Given the description of an element on the screen output the (x, y) to click on. 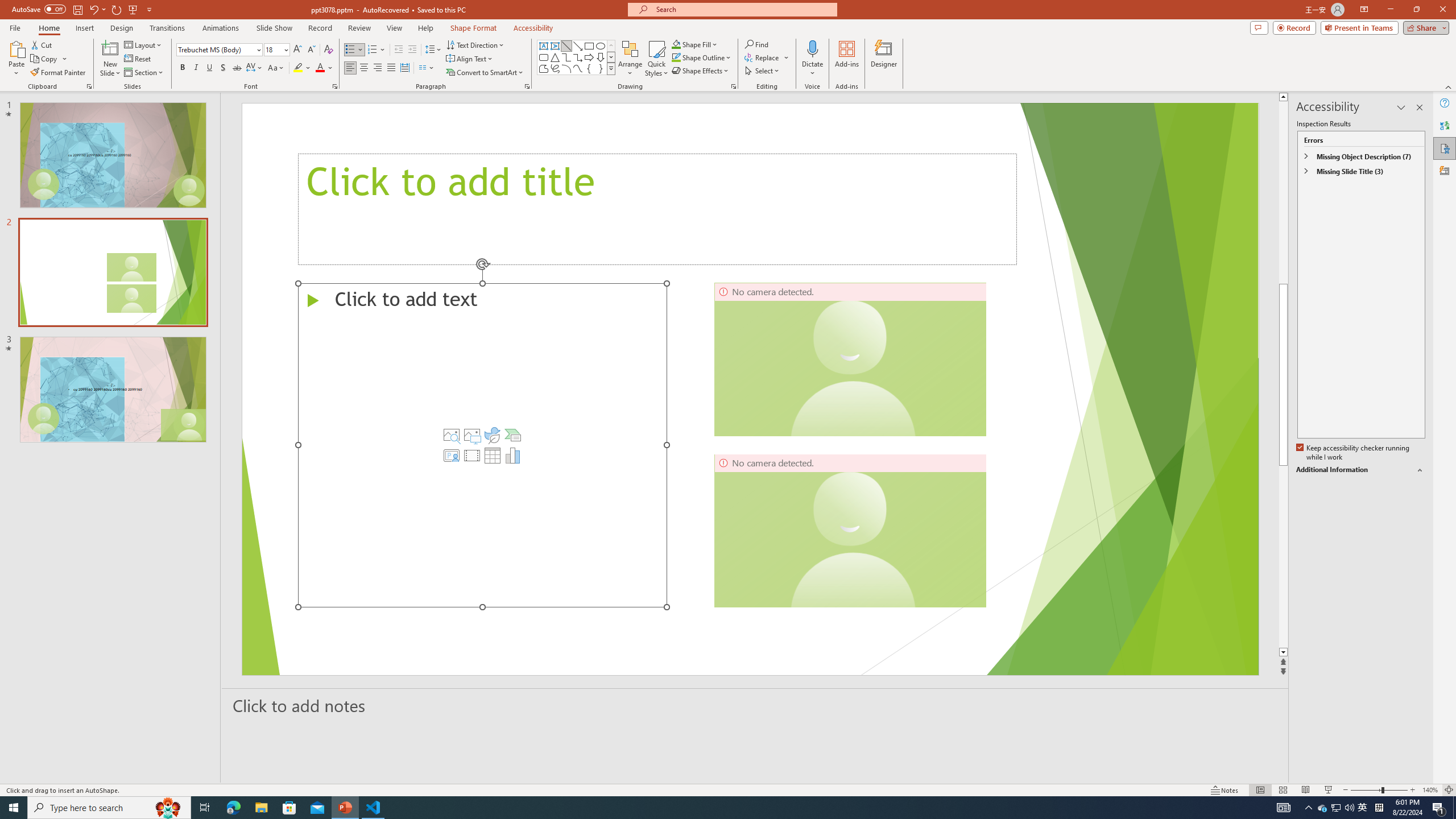
Insert Chart (512, 455)
Freeform: Shape (543, 68)
Arrange (630, 58)
Shape Outline (701, 56)
Shape Outline Green, Accent 1 (675, 56)
Zoom 140% (1430, 790)
Italic (195, 67)
